Given the description of an element on the screen output the (x, y) to click on. 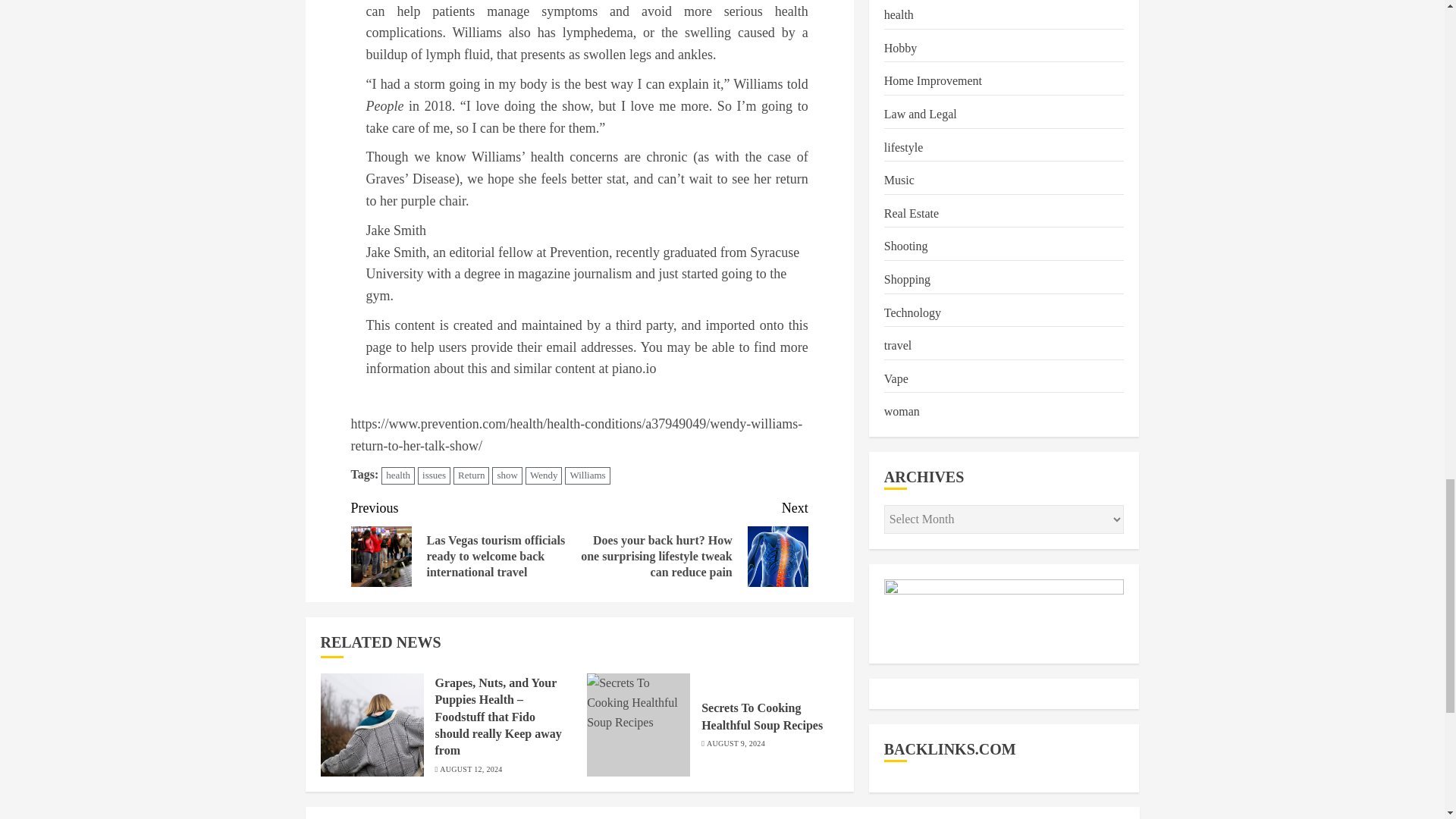
Williams (587, 475)
Return (470, 475)
AUGUST 12, 2024 (470, 769)
Wendy (543, 475)
issues (433, 475)
show (506, 475)
